Given the description of an element on the screen output the (x, y) to click on. 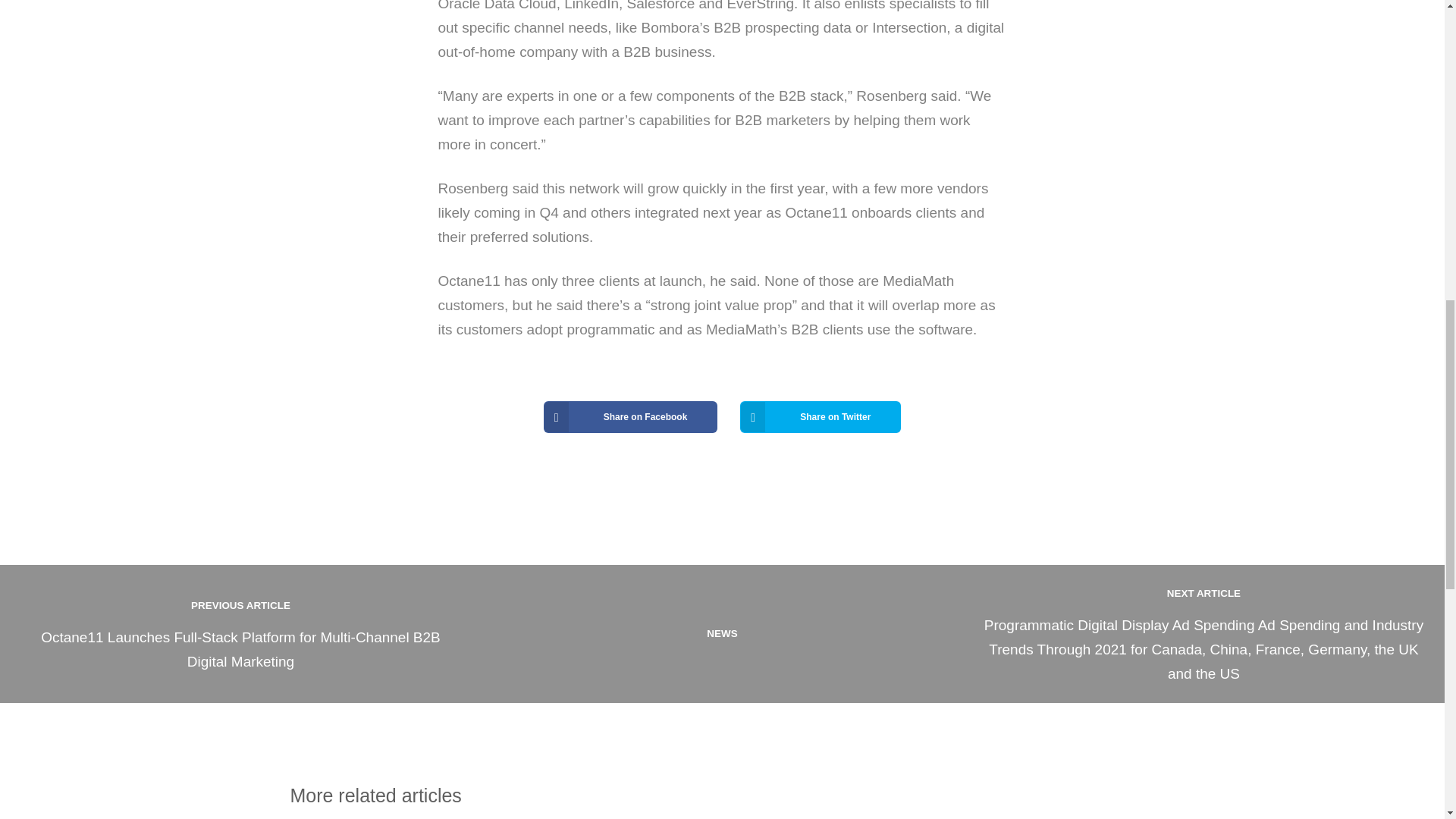
NEWS (721, 633)
Share on Facebook (630, 417)
Share on Twitter (820, 417)
